Given the description of an element on the screen output the (x, y) to click on. 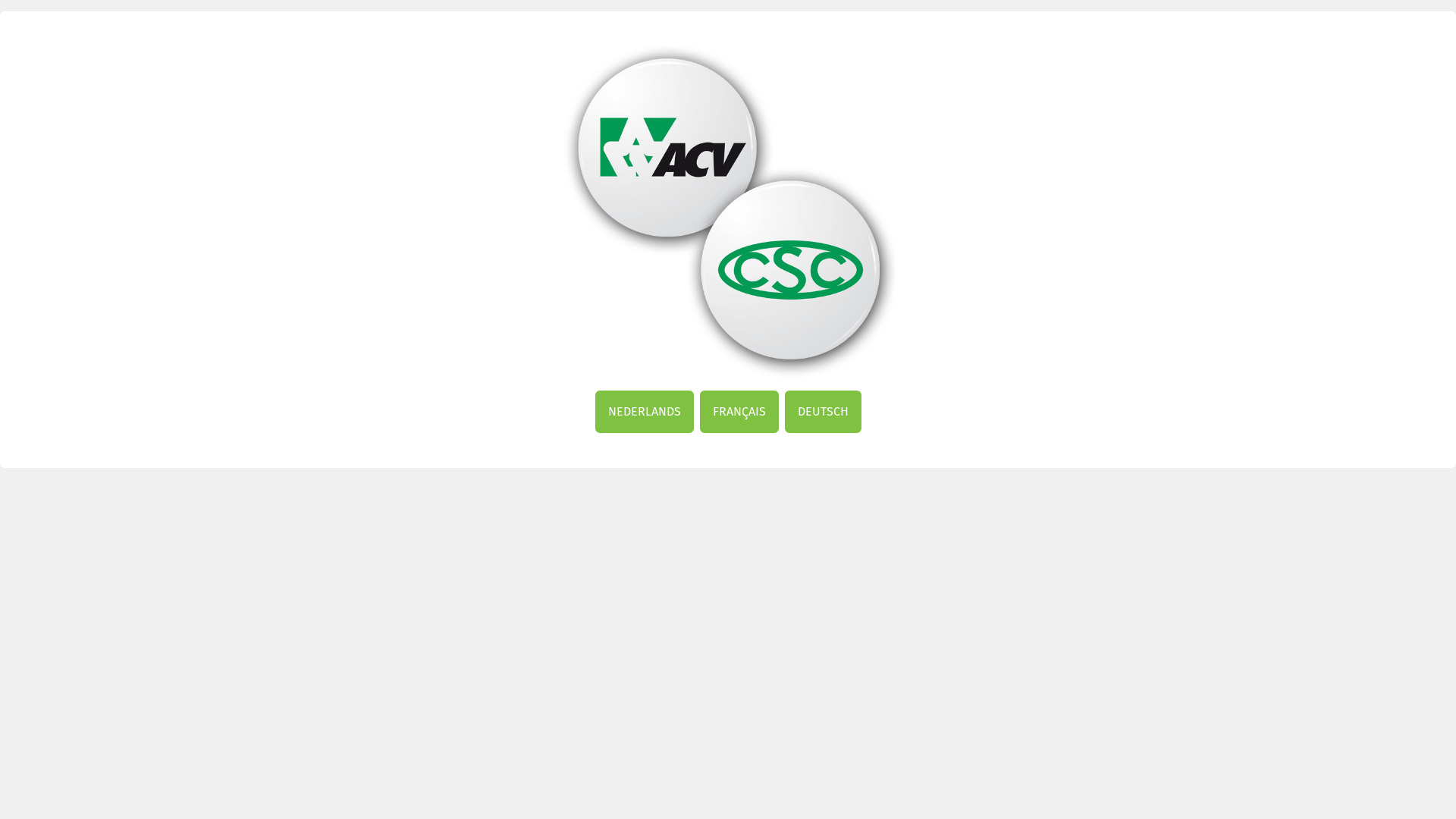
NEDERLANDS Element type: text (643, 411)
DEUTSCH Element type: text (822, 411)
